Given the description of an element on the screen output the (x, y) to click on. 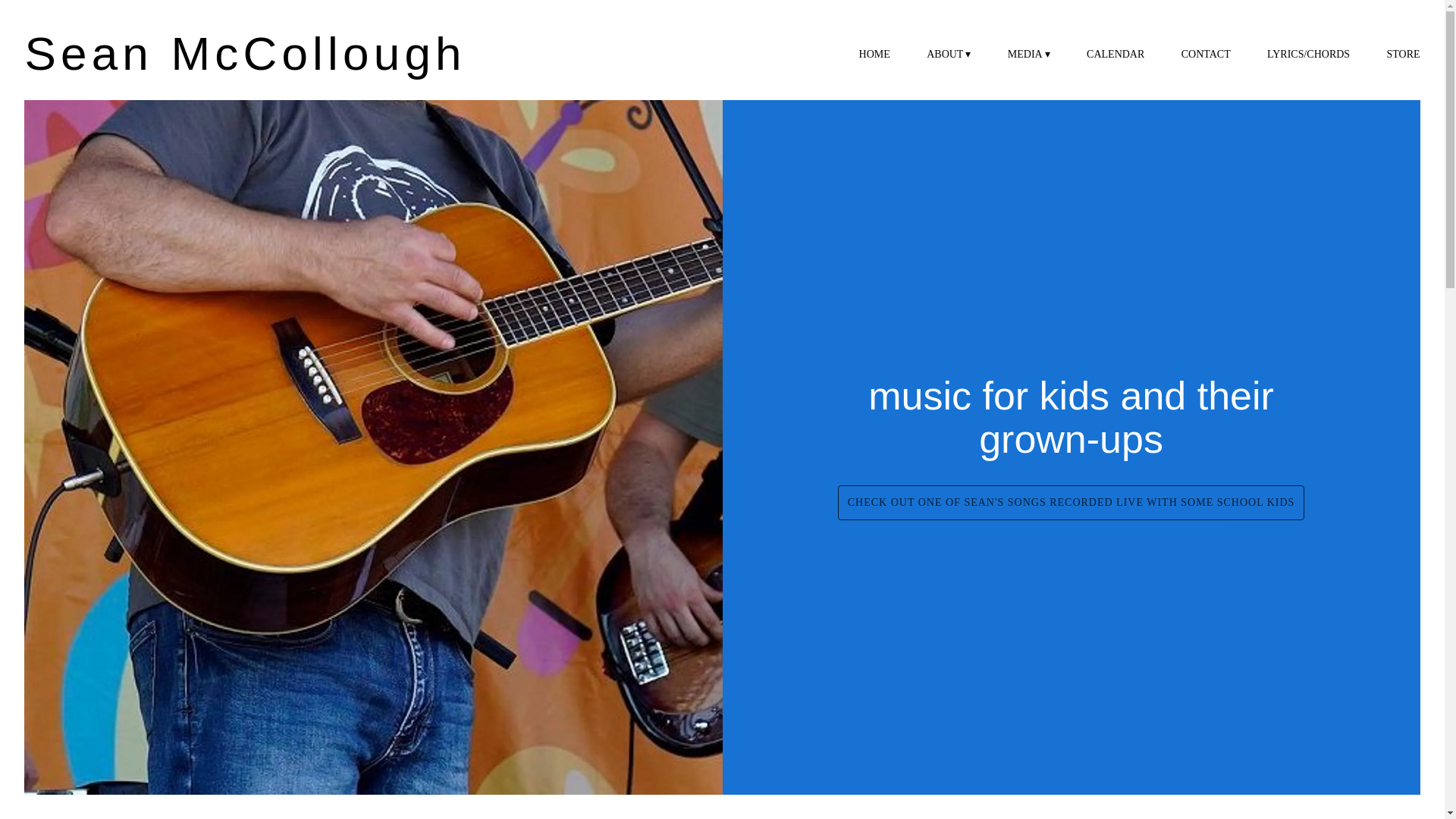
STORE (1404, 54)
CALENDAR (1115, 54)
MEDIA (1028, 54)
CONTACT (1205, 54)
